Given the description of an element on the screen output the (x, y) to click on. 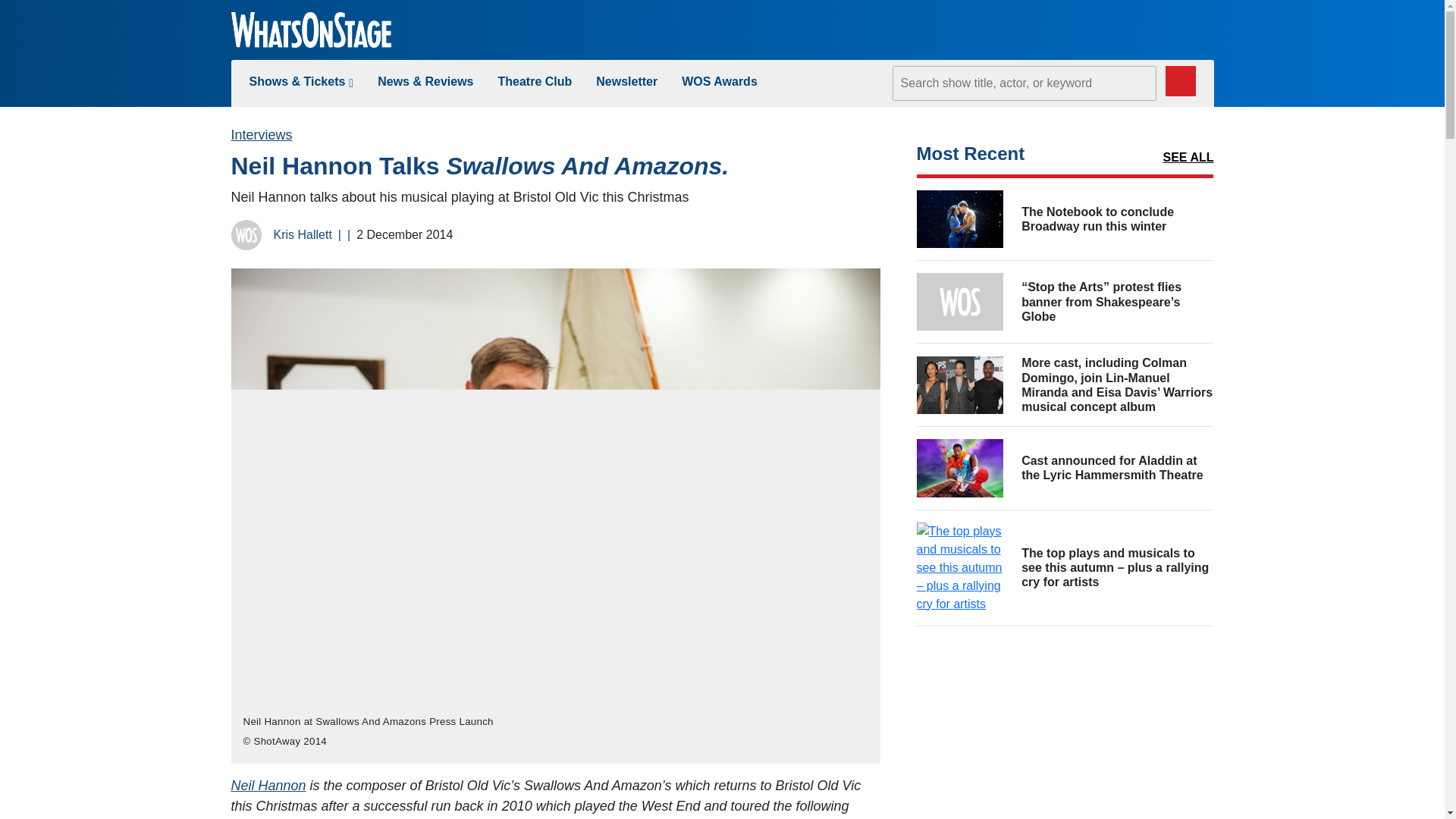
Newsletter (626, 81)
Theatre Club (534, 81)
WOS Awards (719, 81)
new-and-reviews-link (425, 81)
